Given the description of an element on the screen output the (x, y) to click on. 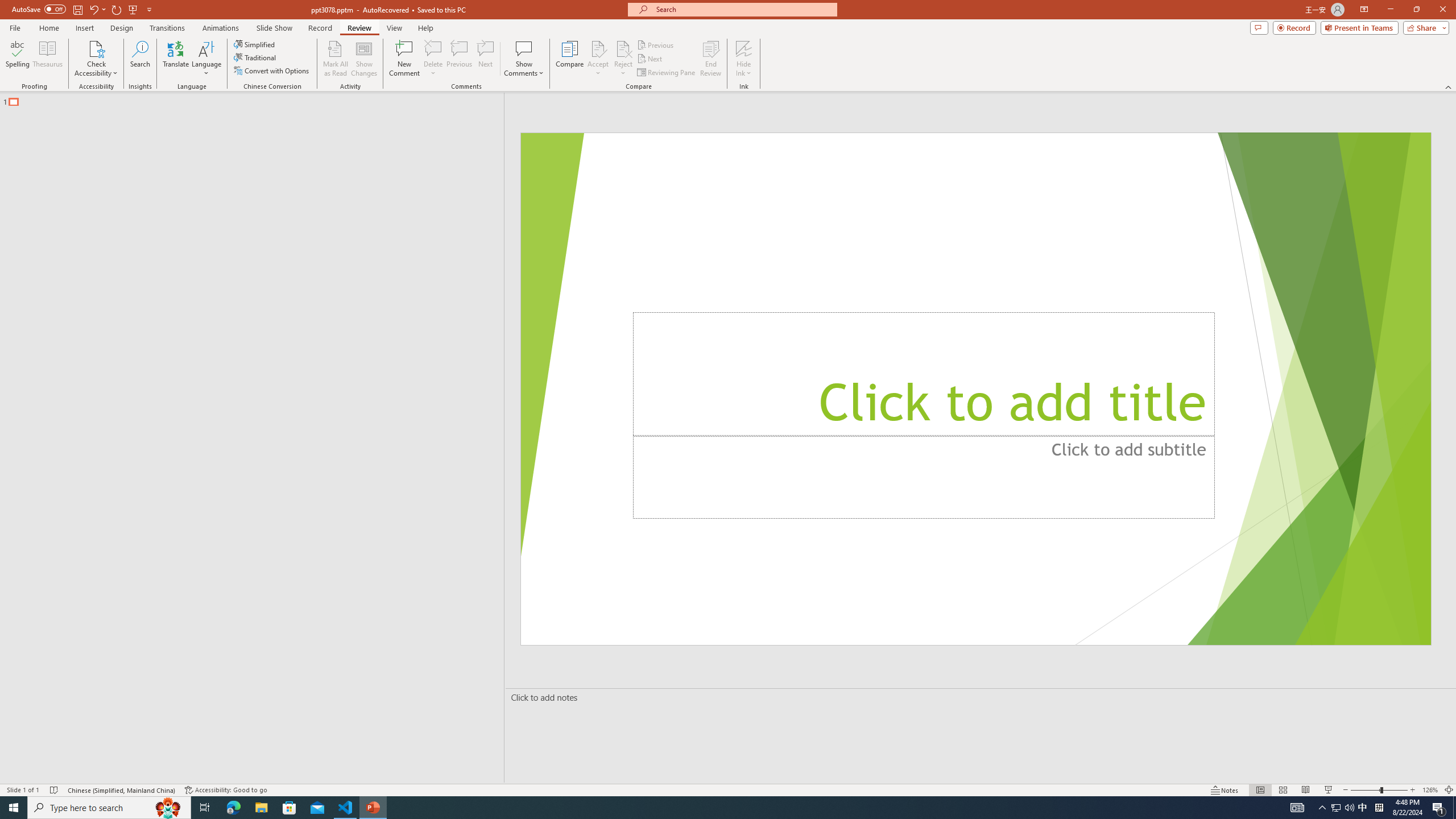
Accept (598, 58)
Previous (655, 44)
Hide Ink (743, 58)
Accept Change (598, 48)
